Given the description of an element on the screen output the (x, y) to click on. 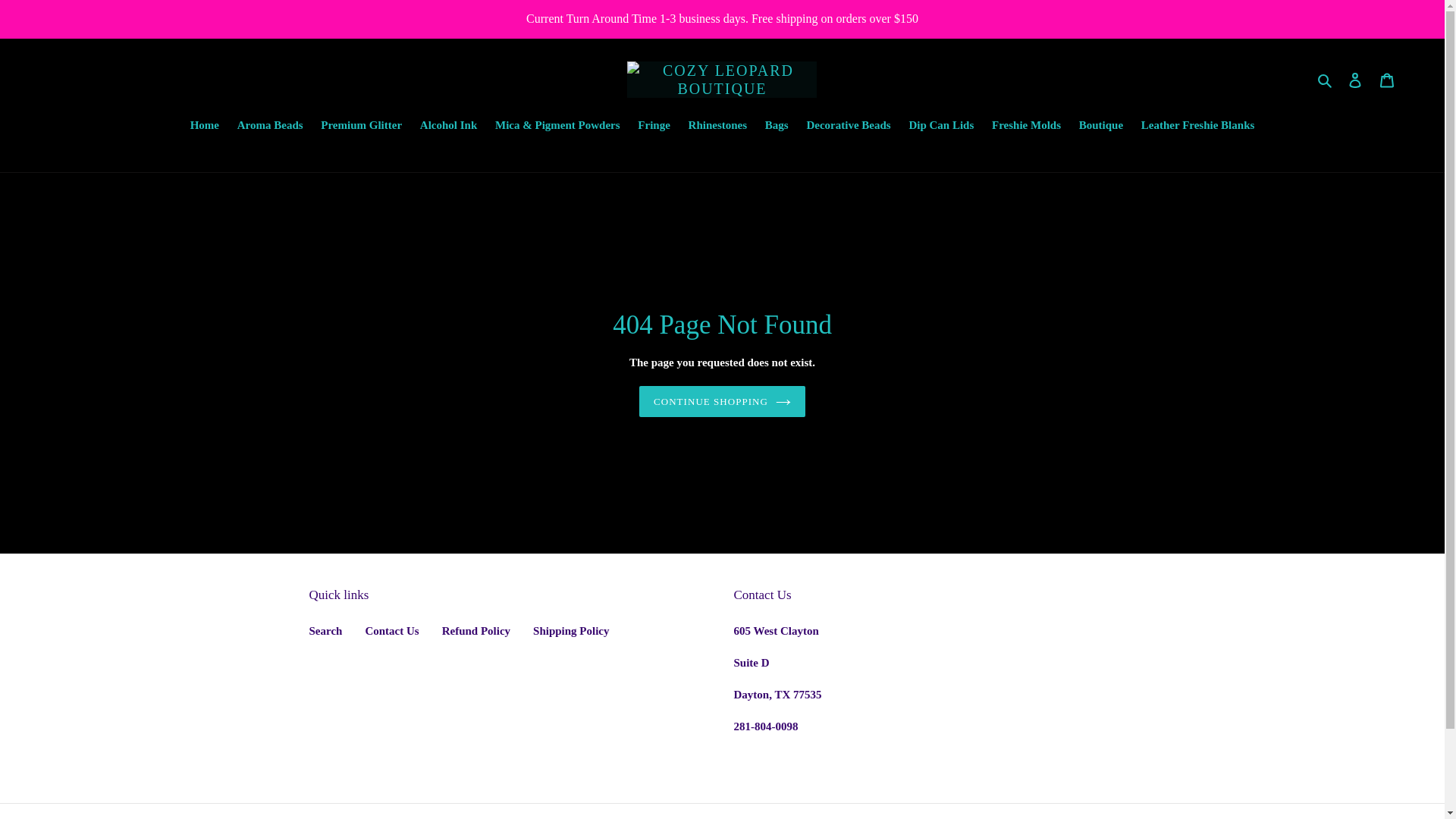
Leather Freshie Blanks (1198, 126)
Search (1326, 79)
Cart (1387, 79)
Dip Can Lids (941, 126)
Alcohol Ink (448, 126)
Premium Glitter (361, 126)
Boutique (1101, 126)
Log in (1355, 79)
Search (325, 630)
Home (205, 126)
Decorative Beads (847, 126)
CONTINUE SHOPPING (722, 401)
Bags (776, 126)
Aroma Beads (270, 126)
Rhinestones (718, 126)
